Given the description of an element on the screen output the (x, y) to click on. 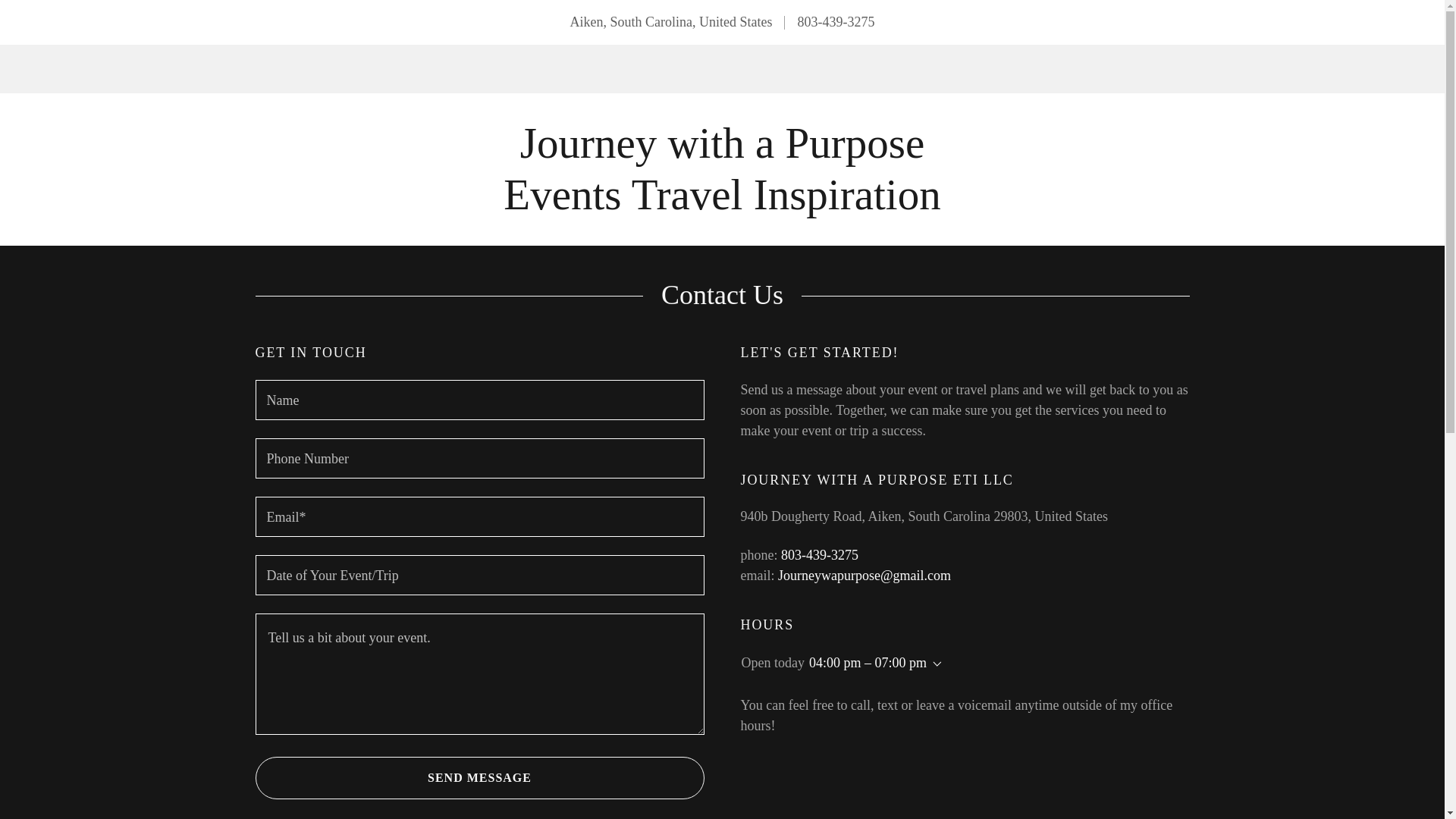
803-439-3275 (721, 204)
SEND MESSAGE (721, 204)
803-439-3275 (835, 21)
